Given the description of an element on the screen output the (x, y) to click on. 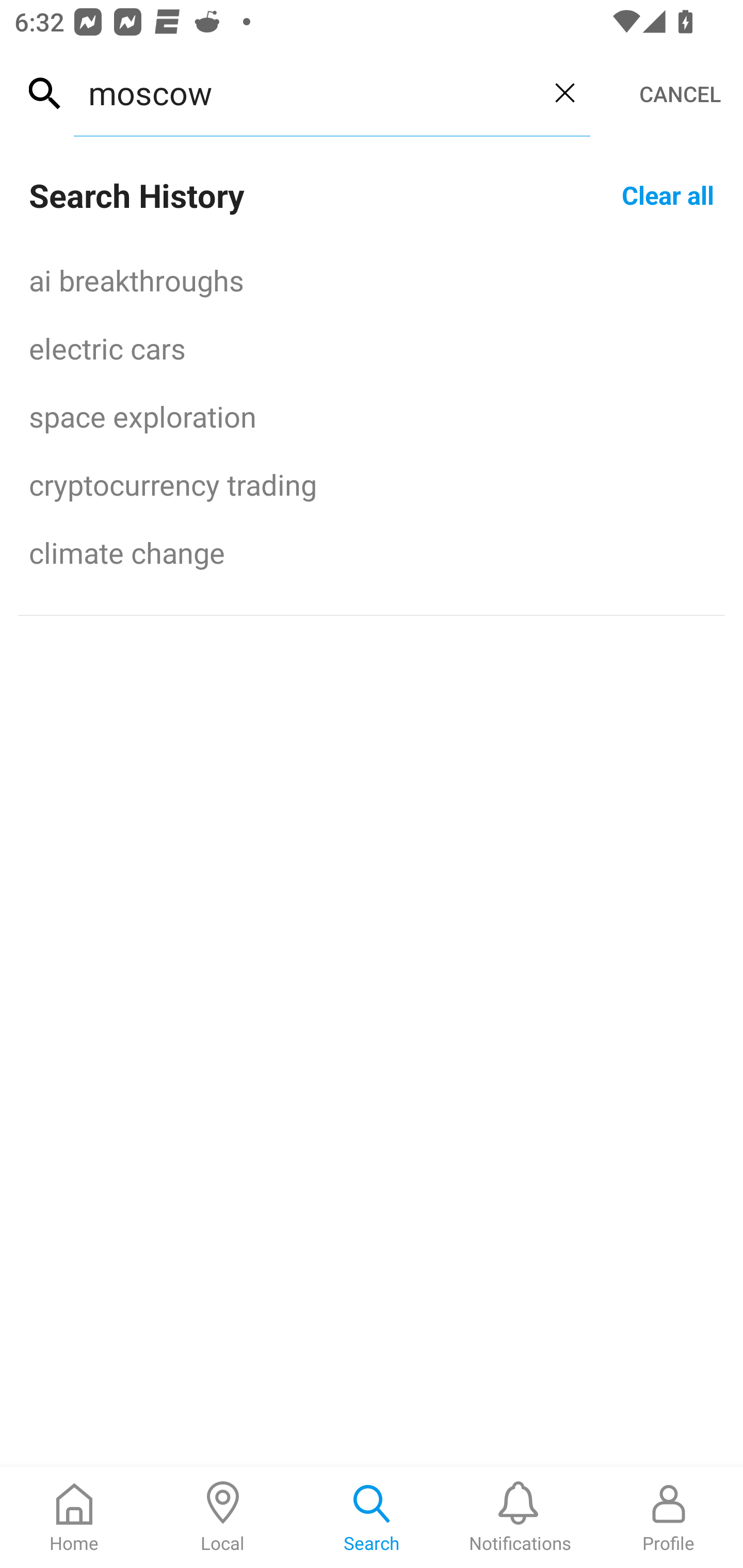
Clear query (564, 92)
CANCEL (680, 93)
moscow (306, 92)
Clear all (667, 194)
ai breakthroughs (371, 279)
electric cars (371, 347)
space exploration (371, 416)
cryptocurrency trading (371, 484)
climate change (371, 552)
Home (74, 1517)
Local (222, 1517)
Notifications (519, 1517)
Profile (668, 1517)
